Given the description of an element on the screen output the (x, y) to click on. 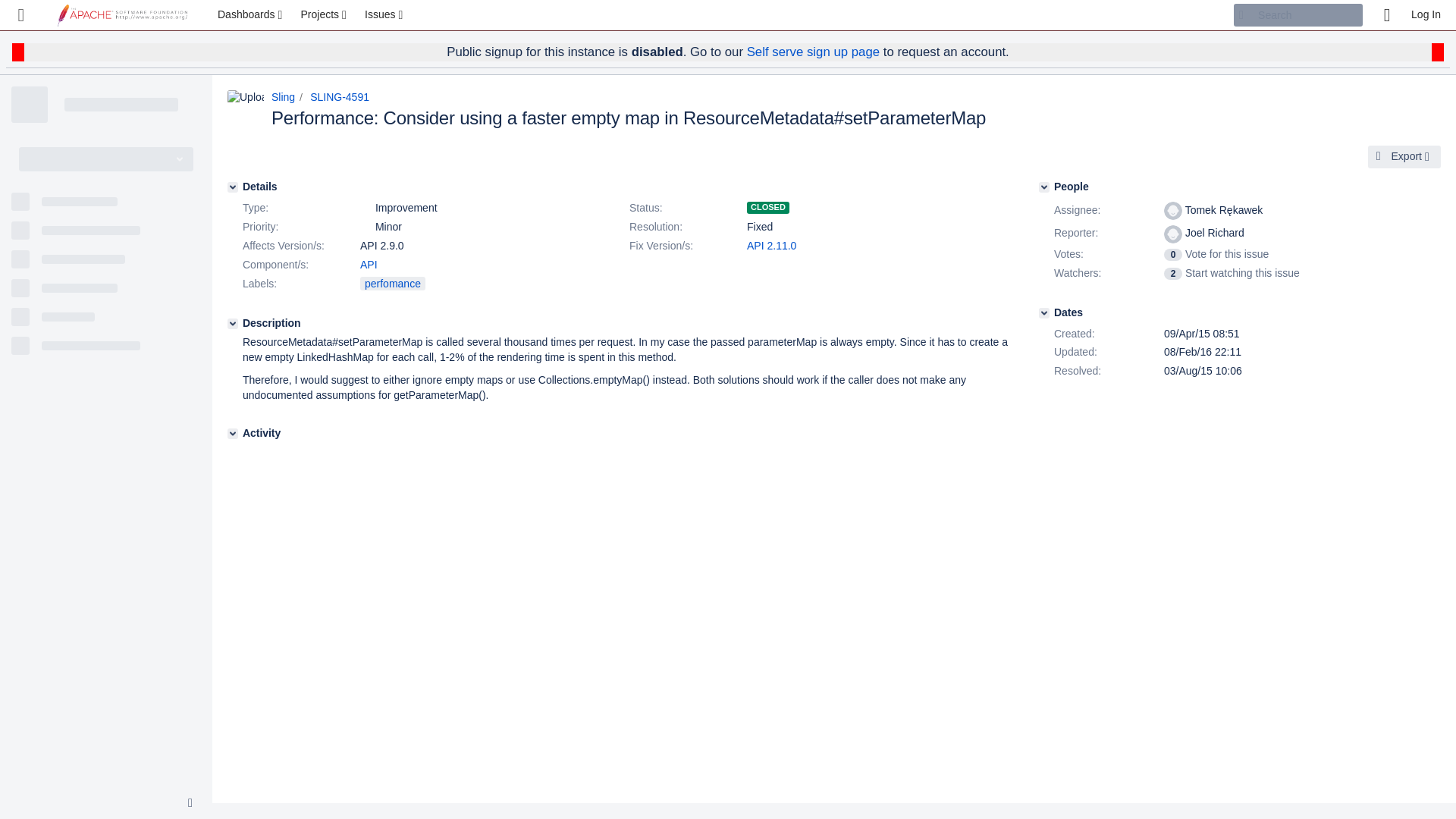
API (368, 264)
Search (1297, 15)
Help (1386, 15)
Projects (324, 15)
Status (685, 208)
View and manage your dashboards (251, 15)
Search for issues and view recent issues (384, 15)
Issues (384, 15)
Log In (1425, 15)
